Given the description of an element on the screen output the (x, y) to click on. 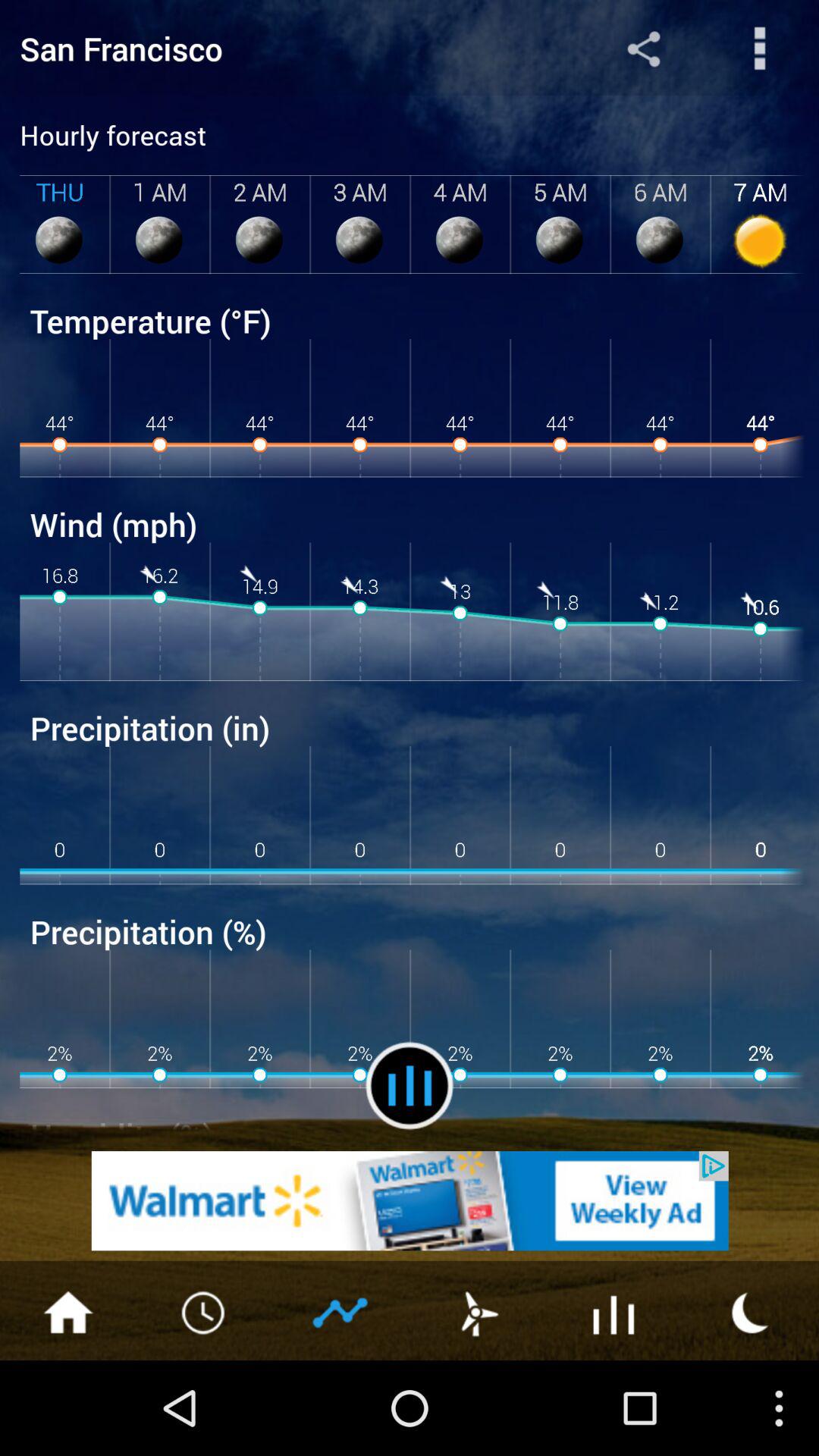
turn on night mode (750, 1311)
